Given the description of an element on the screen output the (x, y) to click on. 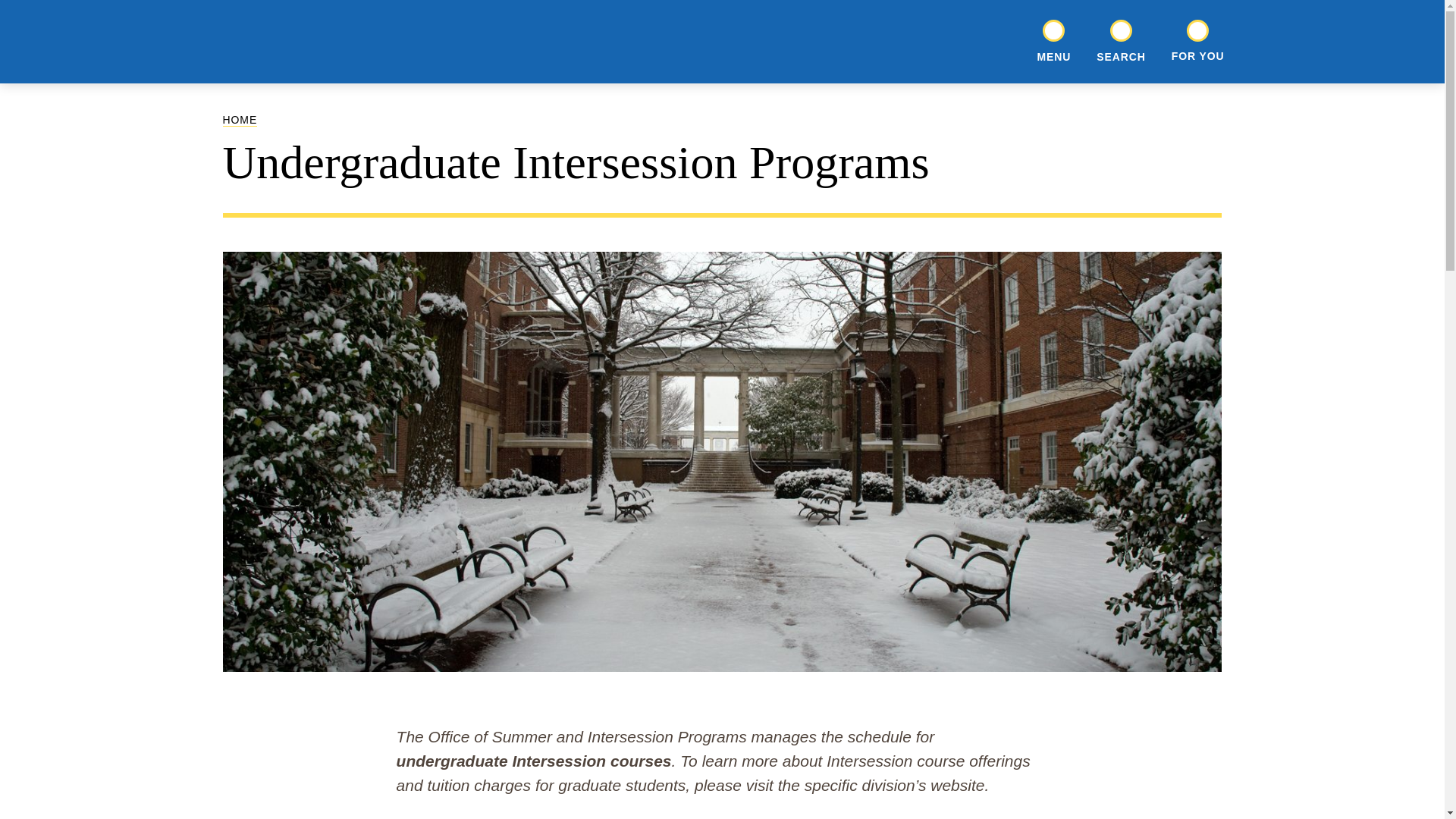
HOME (239, 119)
